Given the description of an element on the screen output the (x, y) to click on. 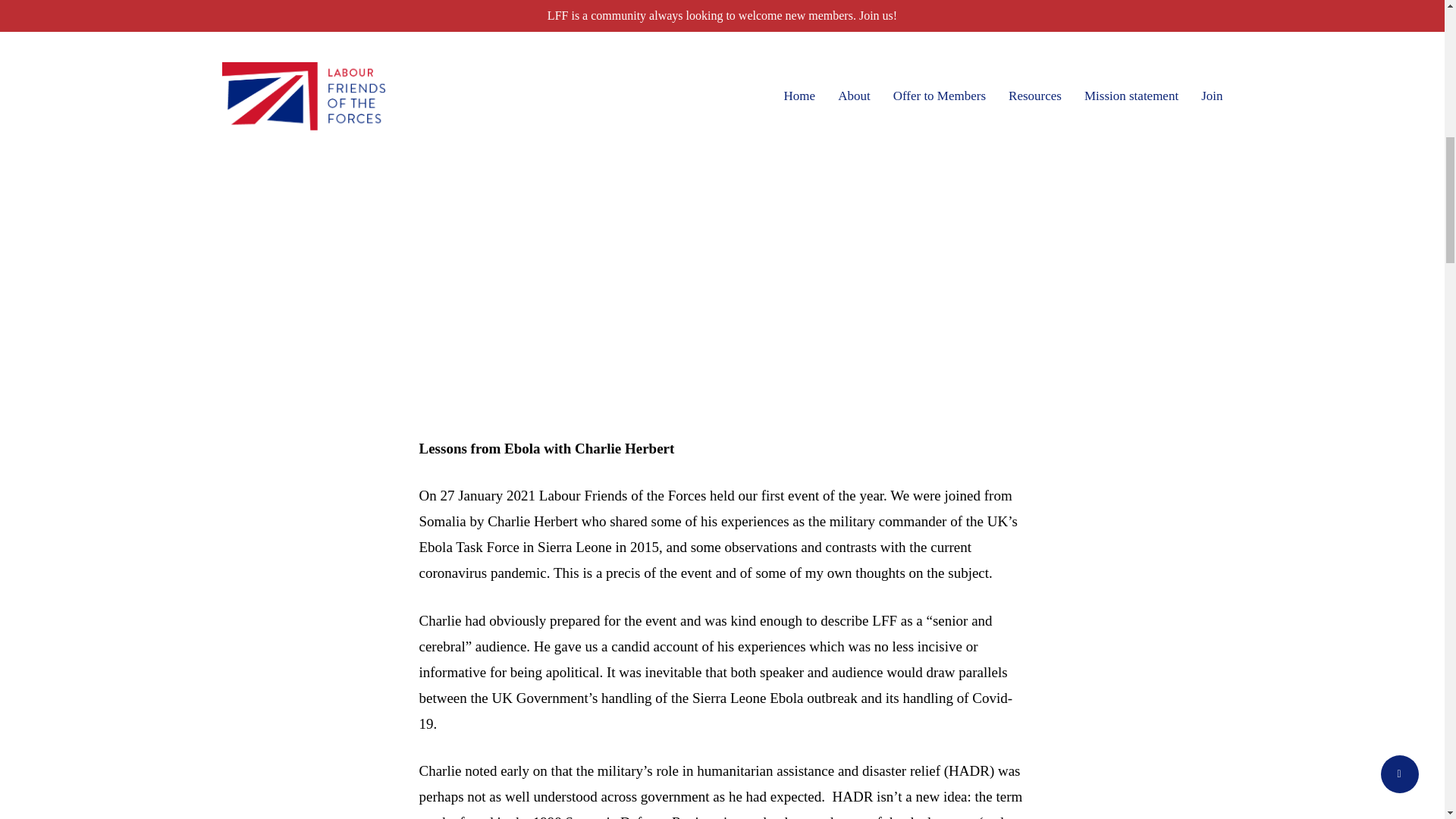
Home (238, 28)
